Given the description of an element on the screen output the (x, y) to click on. 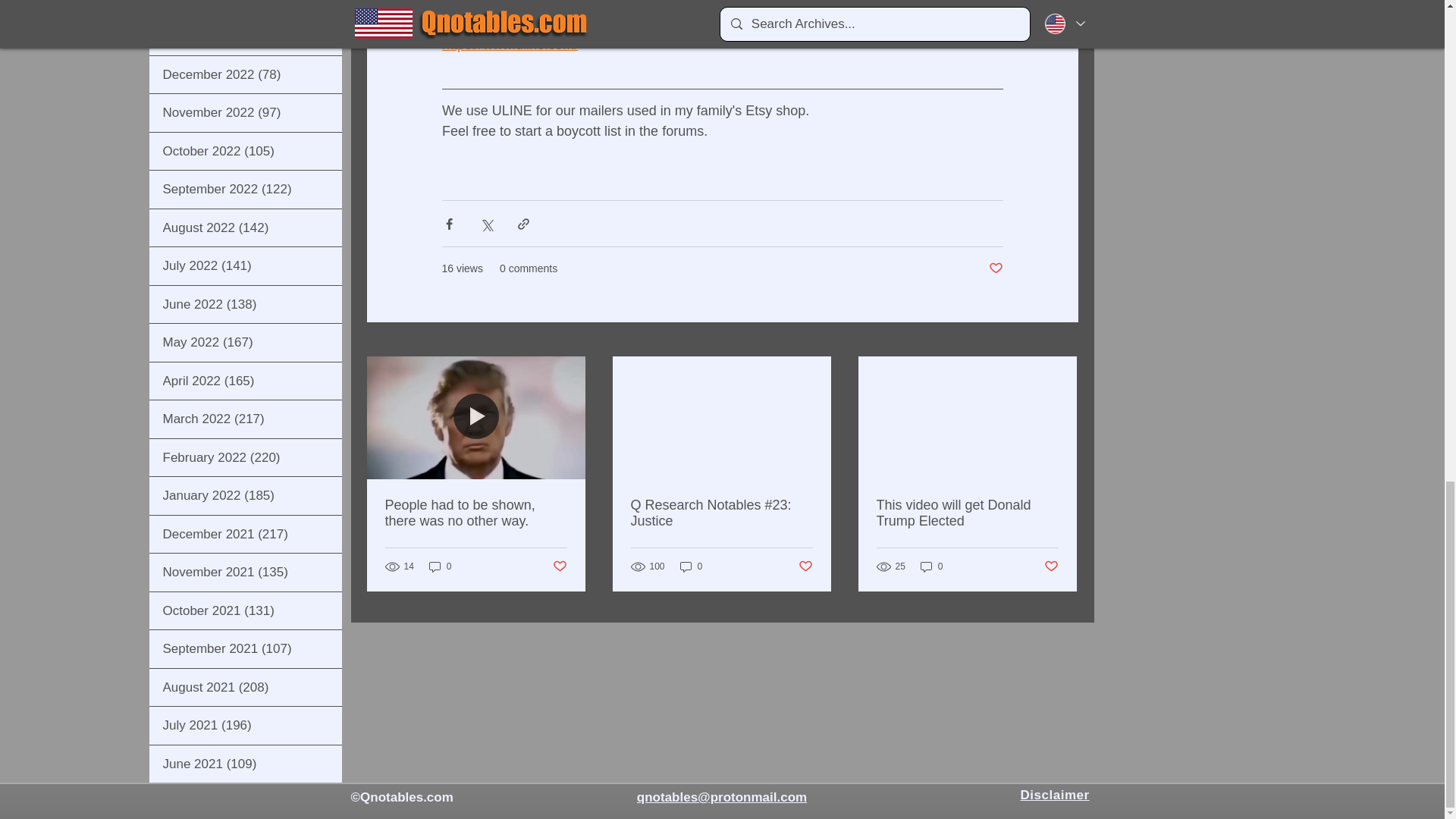
Post not marked as liked (558, 566)
Post not marked as liked (1050, 566)
People had to be shown, there was no other way. (476, 513)
0 (691, 565)
https: (457, 44)
This video will get Donald Trump Elected (967, 513)
0 (440, 565)
Post not marked as liked (804, 566)
0 (931, 565)
Post not marked as liked (995, 268)
